Given the description of an element on the screen output the (x, y) to click on. 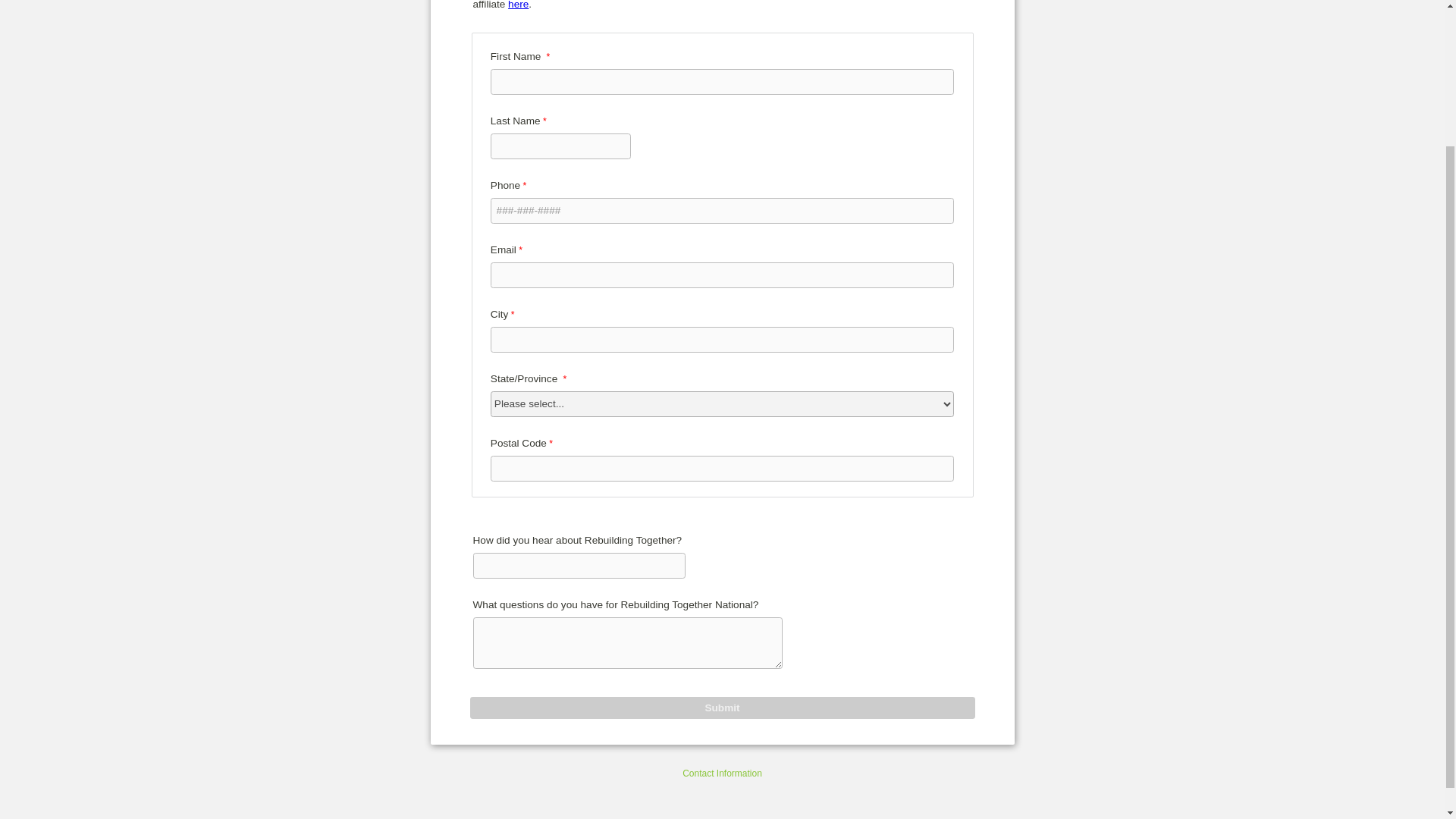
Email (721, 275)
How did you hear about Rebuilding Together? (579, 565)
Phone (721, 210)
Submit (722, 707)
here (518, 4)
Contact Information (721, 773)
First Name  (721, 81)
Last Name (560, 145)
Submit (722, 707)
Postal Code (721, 468)
City (721, 339)
